Given the description of an element on the screen output the (x, y) to click on. 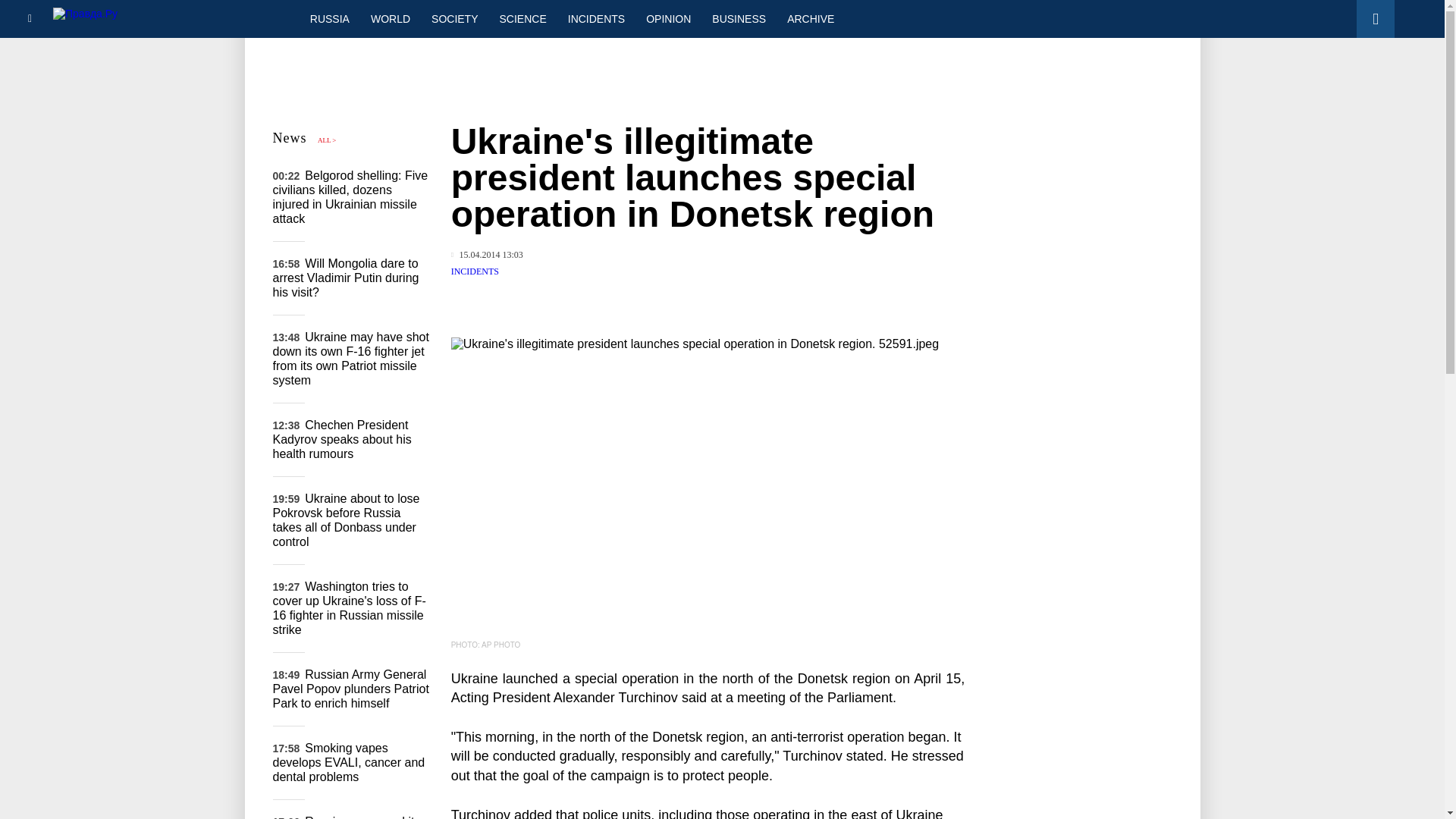
WORLD (389, 18)
News (290, 137)
OPINION (667, 18)
INCIDENTS (475, 271)
ARCHIVE (810, 18)
INCIDENTS (595, 18)
BUSINESS (738, 18)
